Given the description of an element on the screen output the (x, y) to click on. 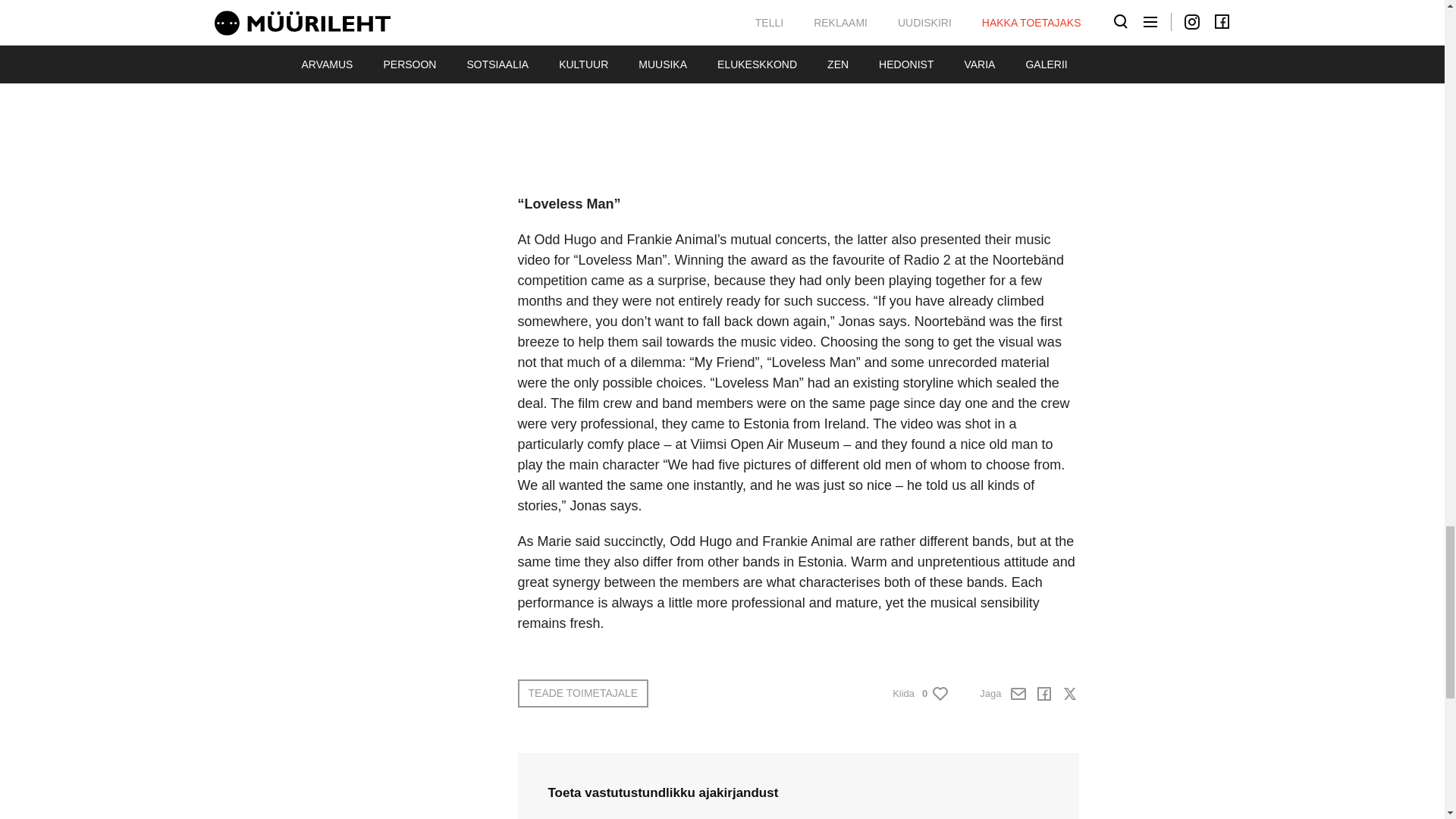
Jaga e-posti teel (1017, 693)
